Given the description of an element on the screen output the (x, y) to click on. 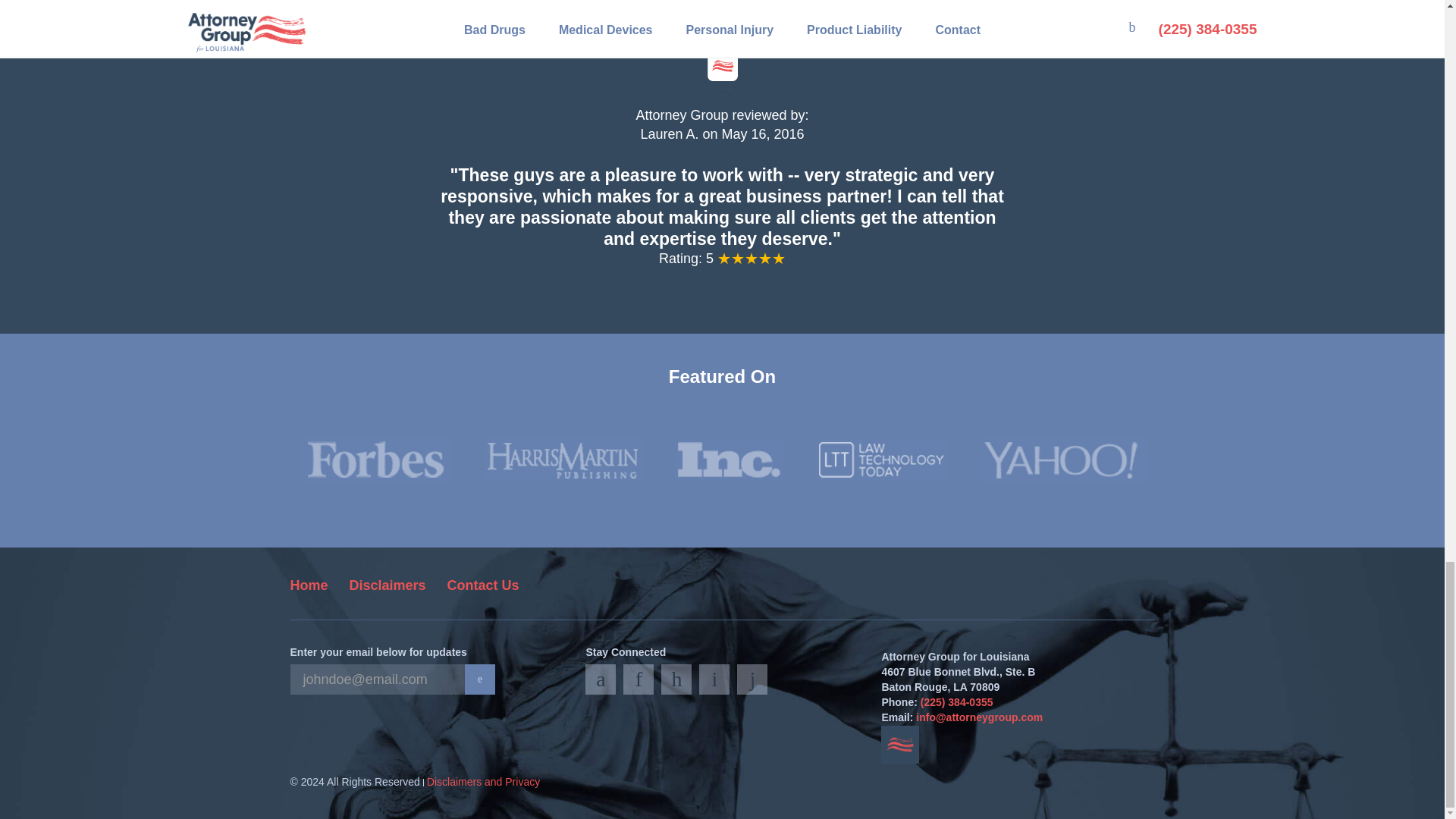
Home (308, 585)
